Given the description of an element on the screen output the (x, y) to click on. 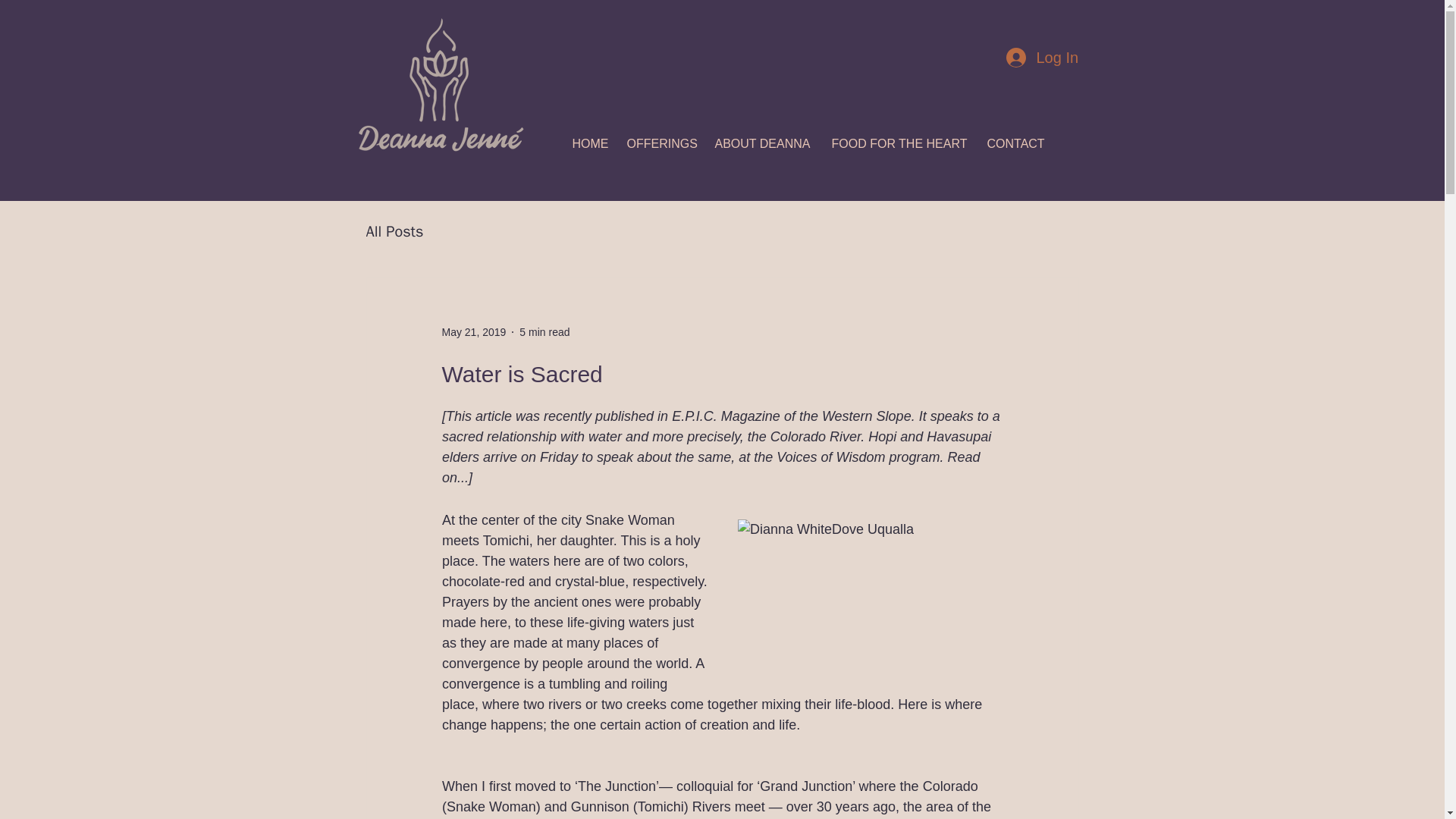
CONTACT (1016, 143)
FOOD FOR THE HEART (901, 143)
All Posts (394, 231)
OFFERINGS (662, 143)
May 21, 2019 (473, 331)
HOME (591, 143)
Log In (1040, 57)
ABOUT DEANNA (765, 143)
5 min read (544, 331)
